Given the description of an element on the screen output the (x, y) to click on. 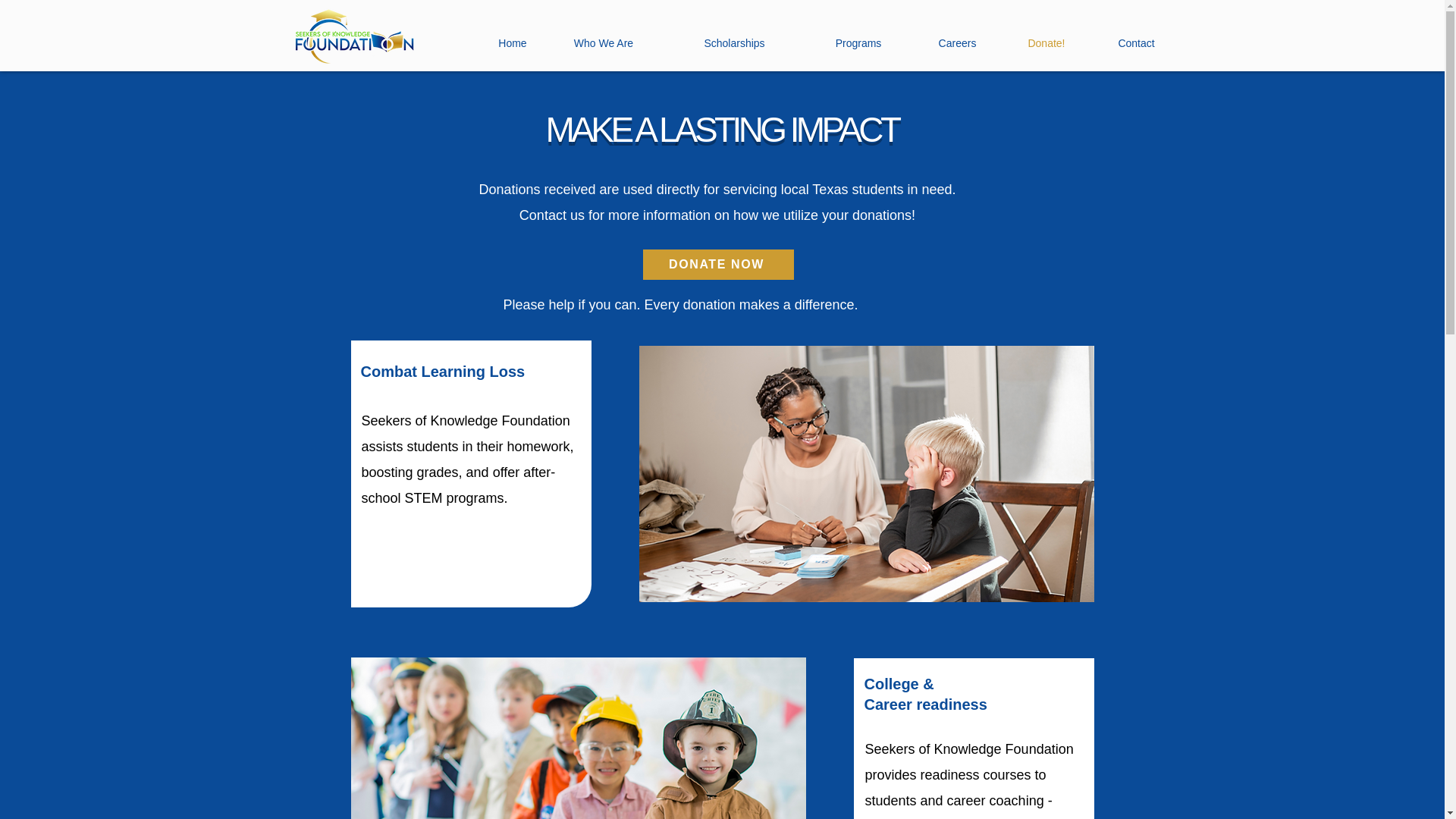
Careers (957, 42)
DONATE NOW (718, 263)
Home (512, 42)
Donate! (1046, 42)
Scholarships (734, 42)
Programs (858, 42)
Contact (1136, 42)
Who We Are (603, 42)
